Given the description of an element on the screen output the (x, y) to click on. 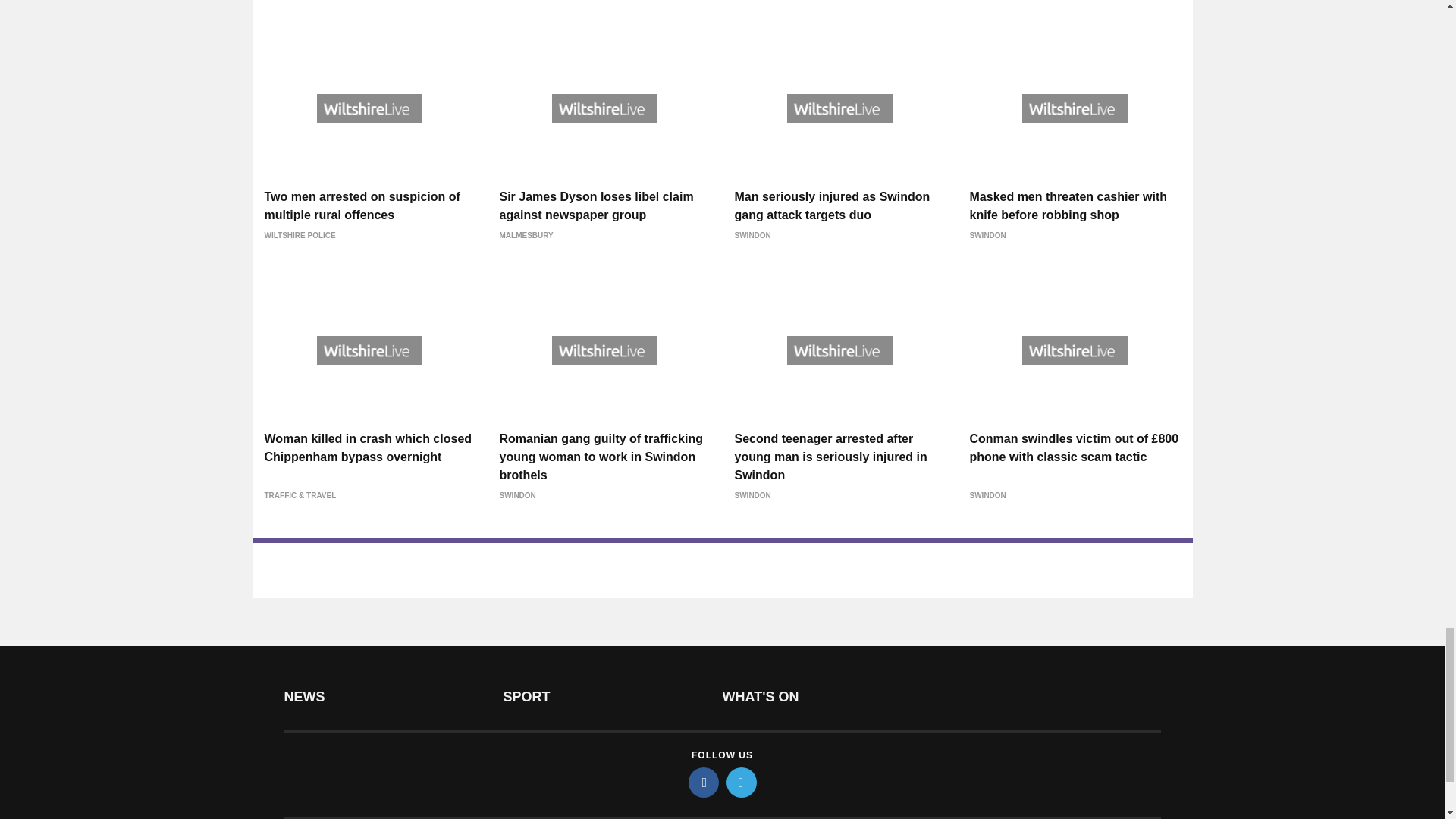
facebook (703, 782)
twitter (741, 782)
